Given the description of an element on the screen output the (x, y) to click on. 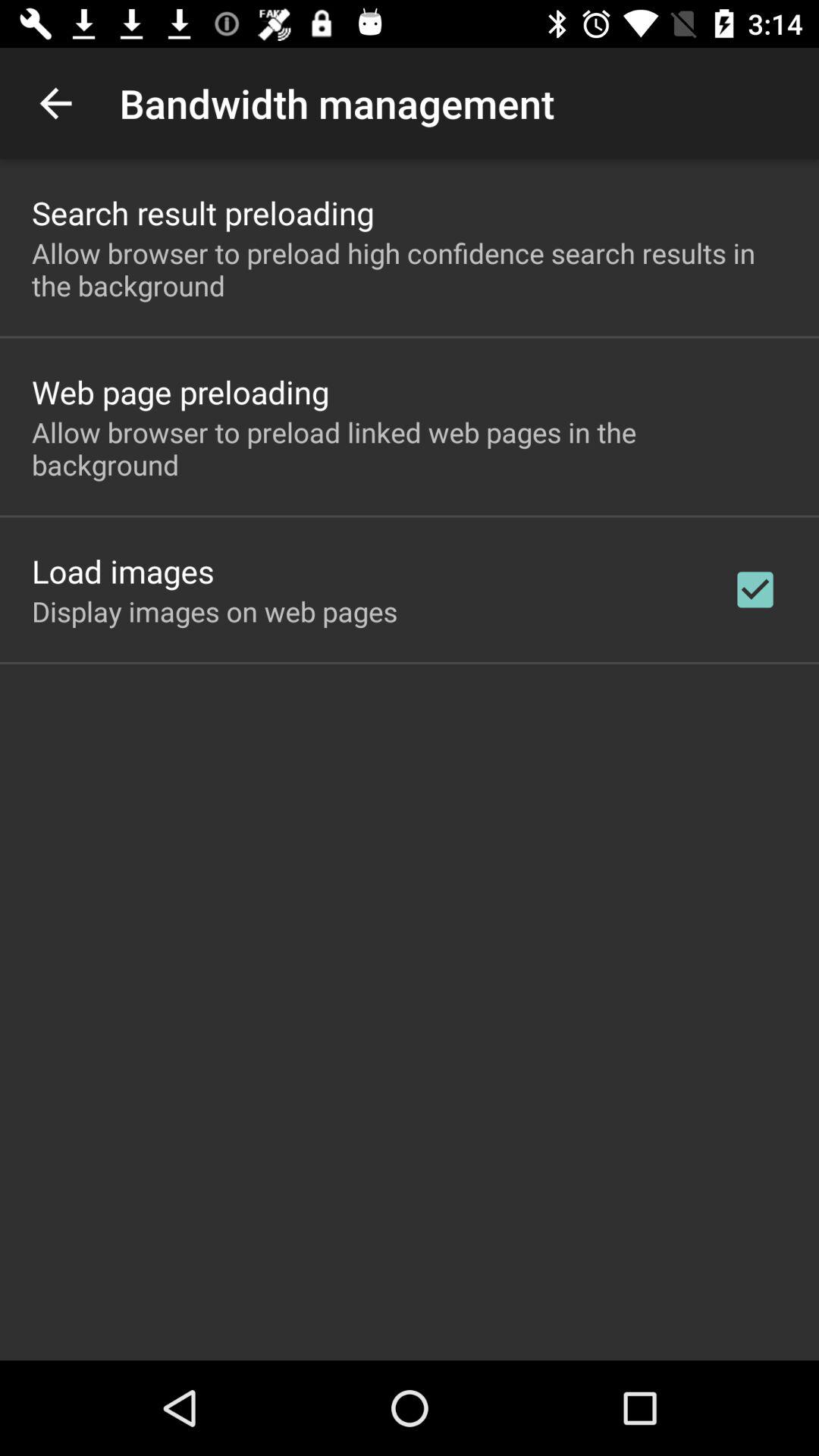
tap item next to display images on item (755, 589)
